Given the description of an element on the screen output the (x, y) to click on. 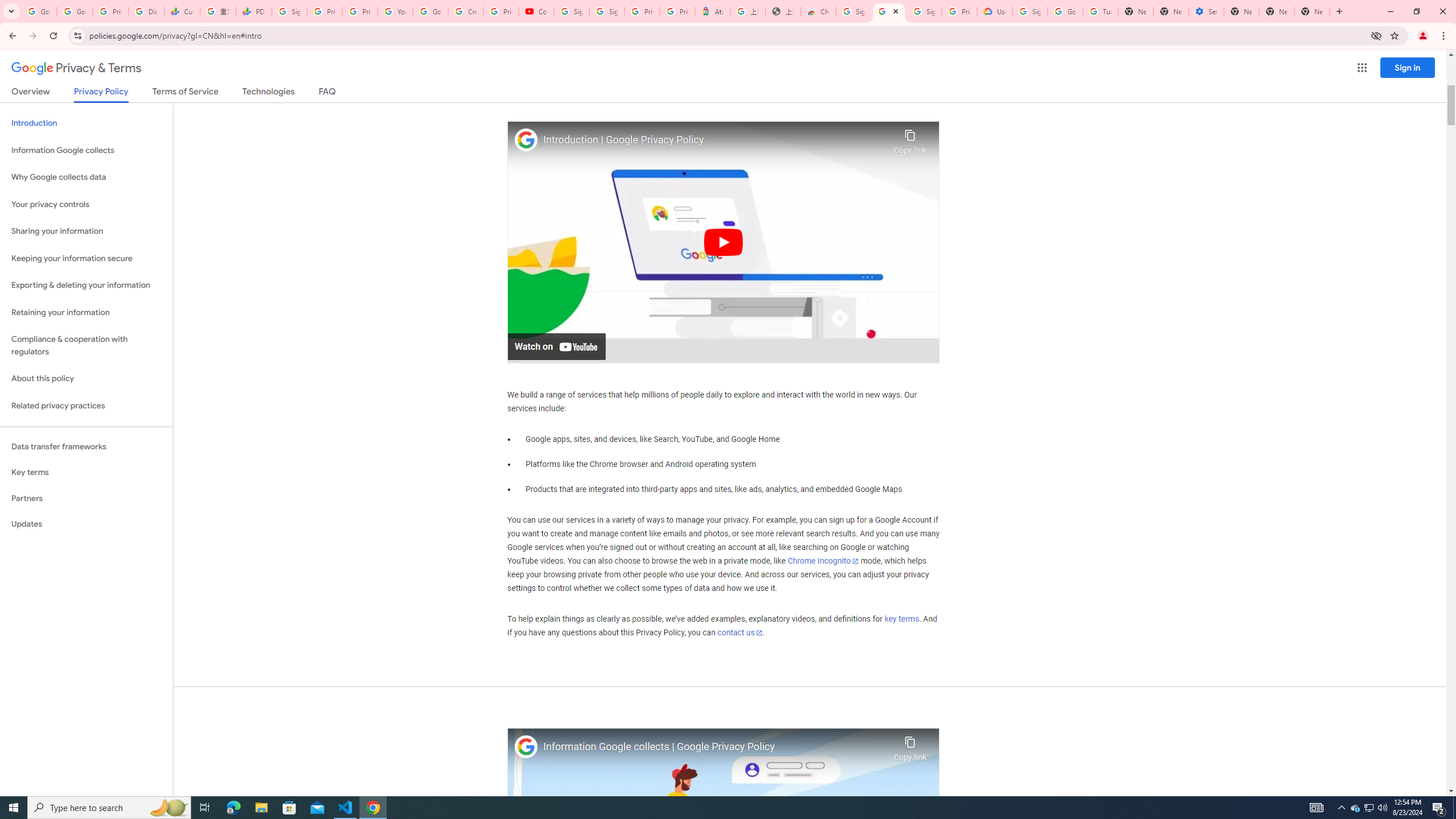
Play (723, 241)
Copy link (909, 745)
Data transfer frameworks (86, 446)
Sign in - Google Accounts (1029, 11)
Settings - System (1205, 11)
Terms of Service (184, 93)
Sign in - Google Accounts (571, 11)
Chrome Web Store - Color themes by Chrome (817, 11)
Privacy Policy (100, 94)
Create your Google Account (465, 11)
Privacy & Terms (76, 68)
